Given the description of an element on the screen output the (x, y) to click on. 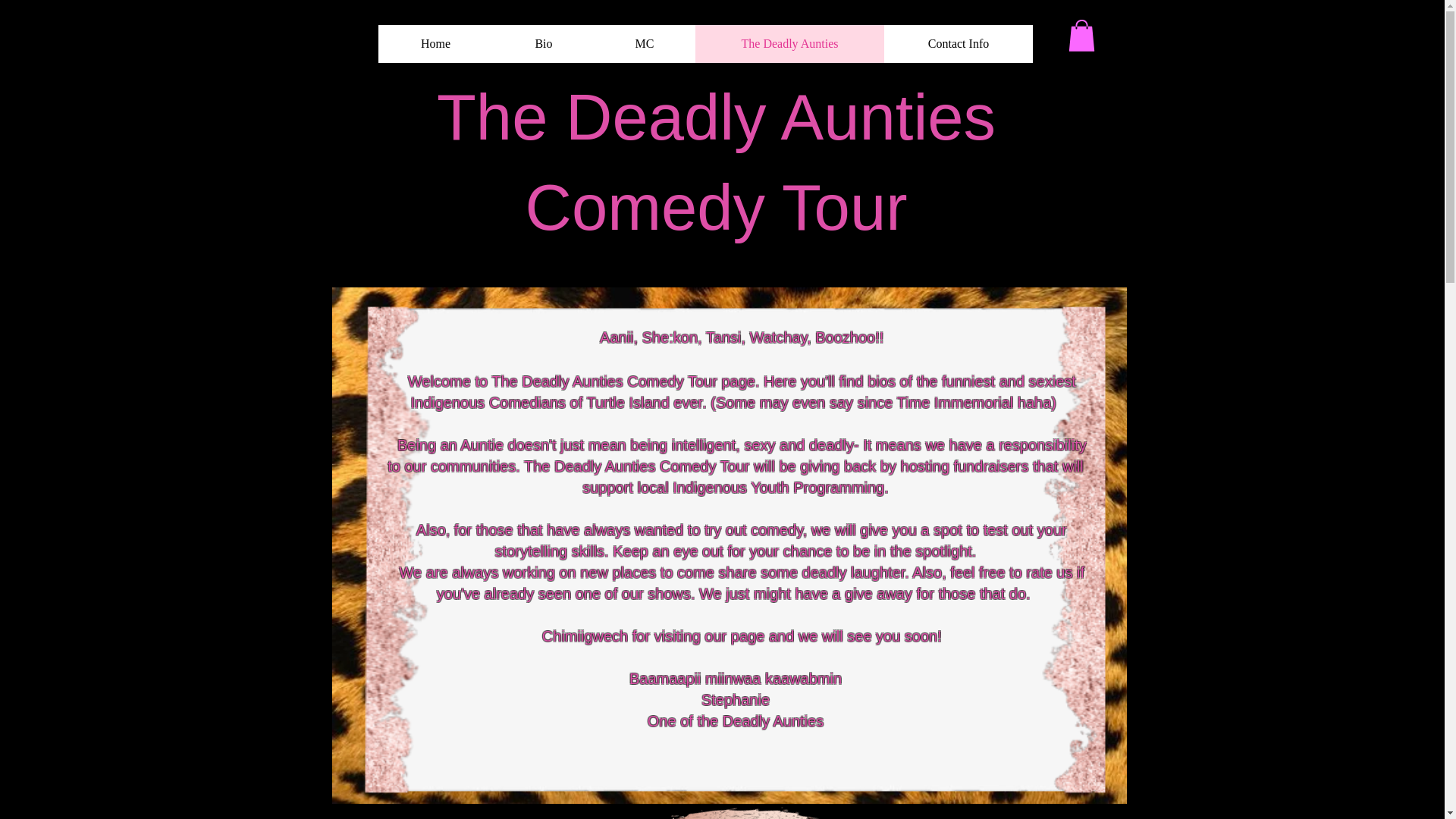
Home (435, 44)
The Deadly Aunties (788, 44)
Bio (542, 44)
MC (643, 44)
Contact Info (957, 44)
